Given the description of an element on the screen output the (x, y) to click on. 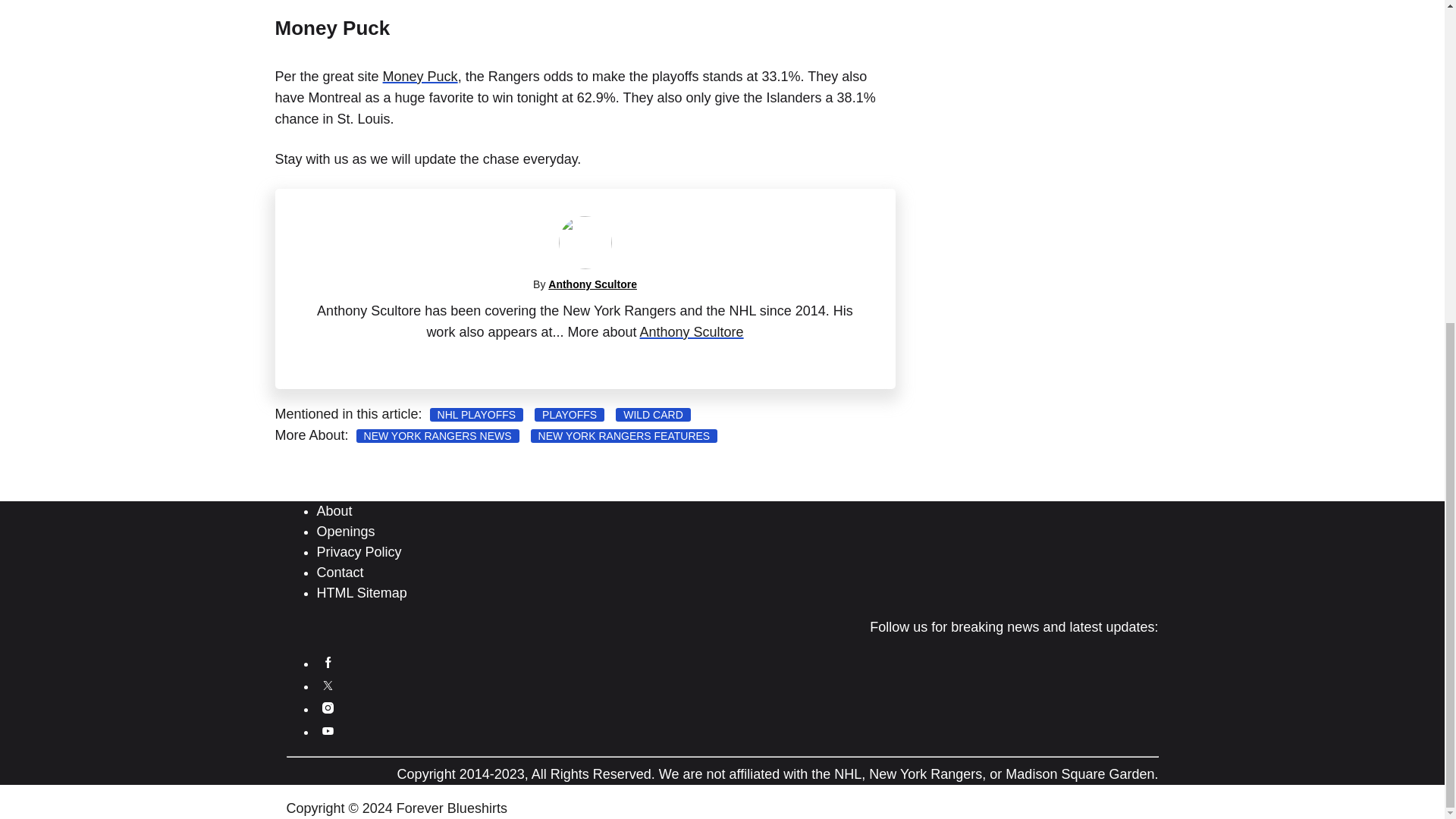
WILD CARD (652, 414)
Follow us on Instagram (328, 707)
NHL PLAYOFFS (475, 414)
Openings (346, 531)
Privacy Policy (359, 551)
Anthony Scultore (592, 284)
Follow us on Facebook (328, 662)
PLAYOFFS (569, 414)
NEW YORK RANGERS FEATURES (624, 436)
Contact (340, 572)
